Given the description of an element on the screen output the (x, y) to click on. 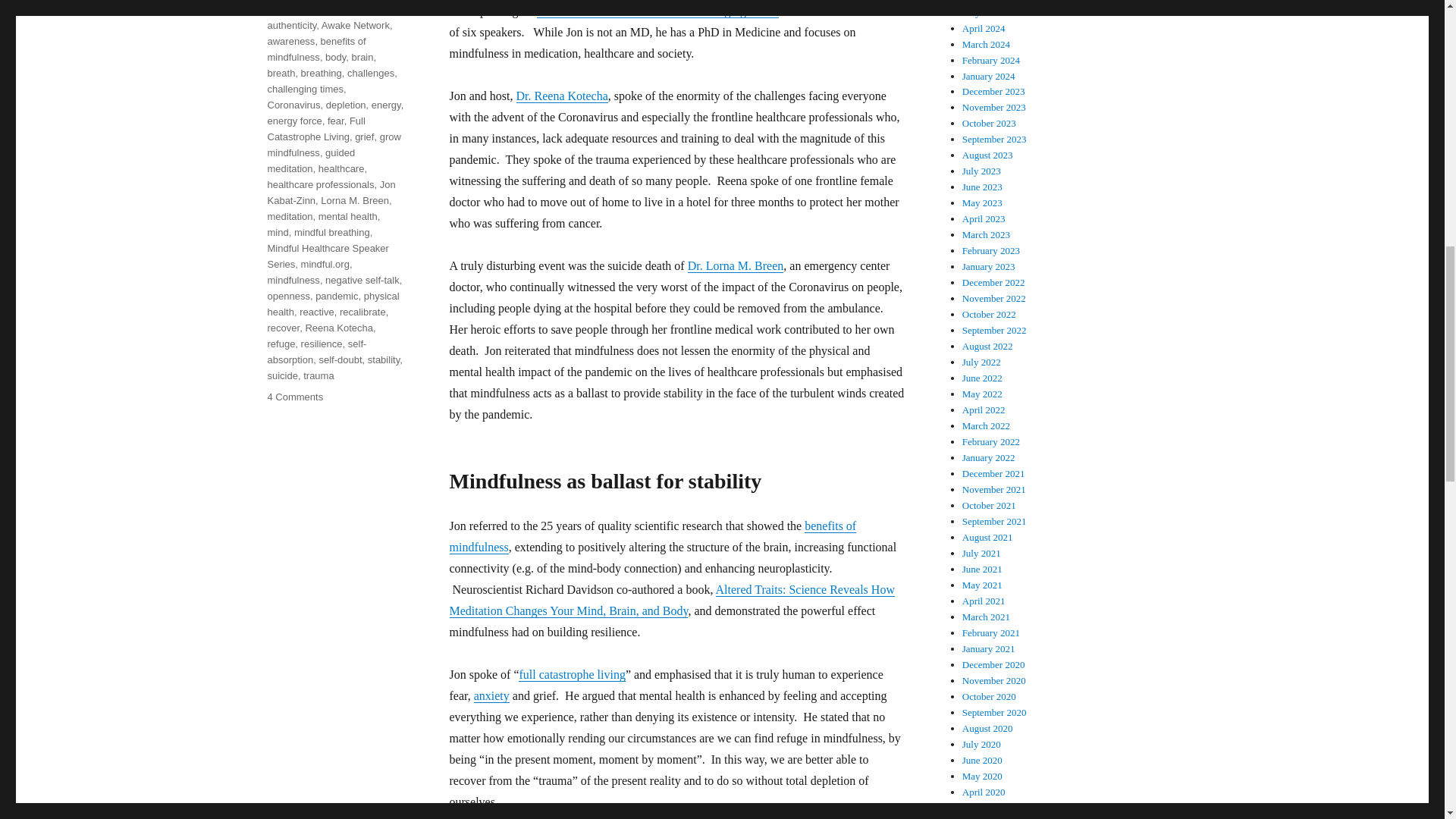
awareness (290, 41)
challenges (370, 72)
breath (280, 72)
challenging times (304, 89)
full catastrophe living (571, 674)
anxiety (491, 695)
Awake Network (355, 25)
Dr. Reena Kotecha (561, 95)
benefits of mindfulness (315, 49)
Dr. Lorna M. Breen (735, 265)
